Given the description of an element on the screen output the (x, y) to click on. 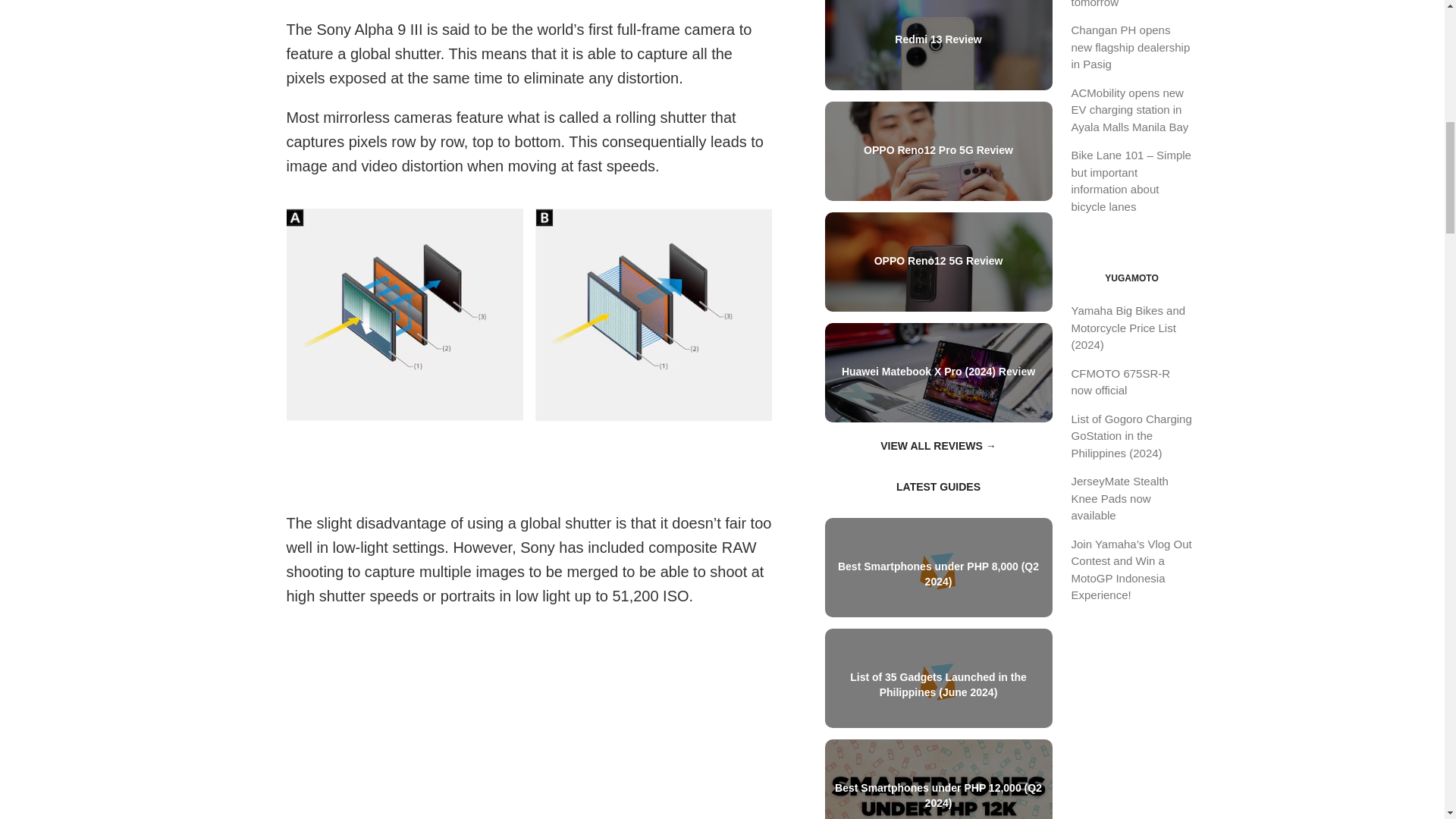
Redmi 13 Review (938, 39)
